Given the description of an element on the screen output the (x, y) to click on. 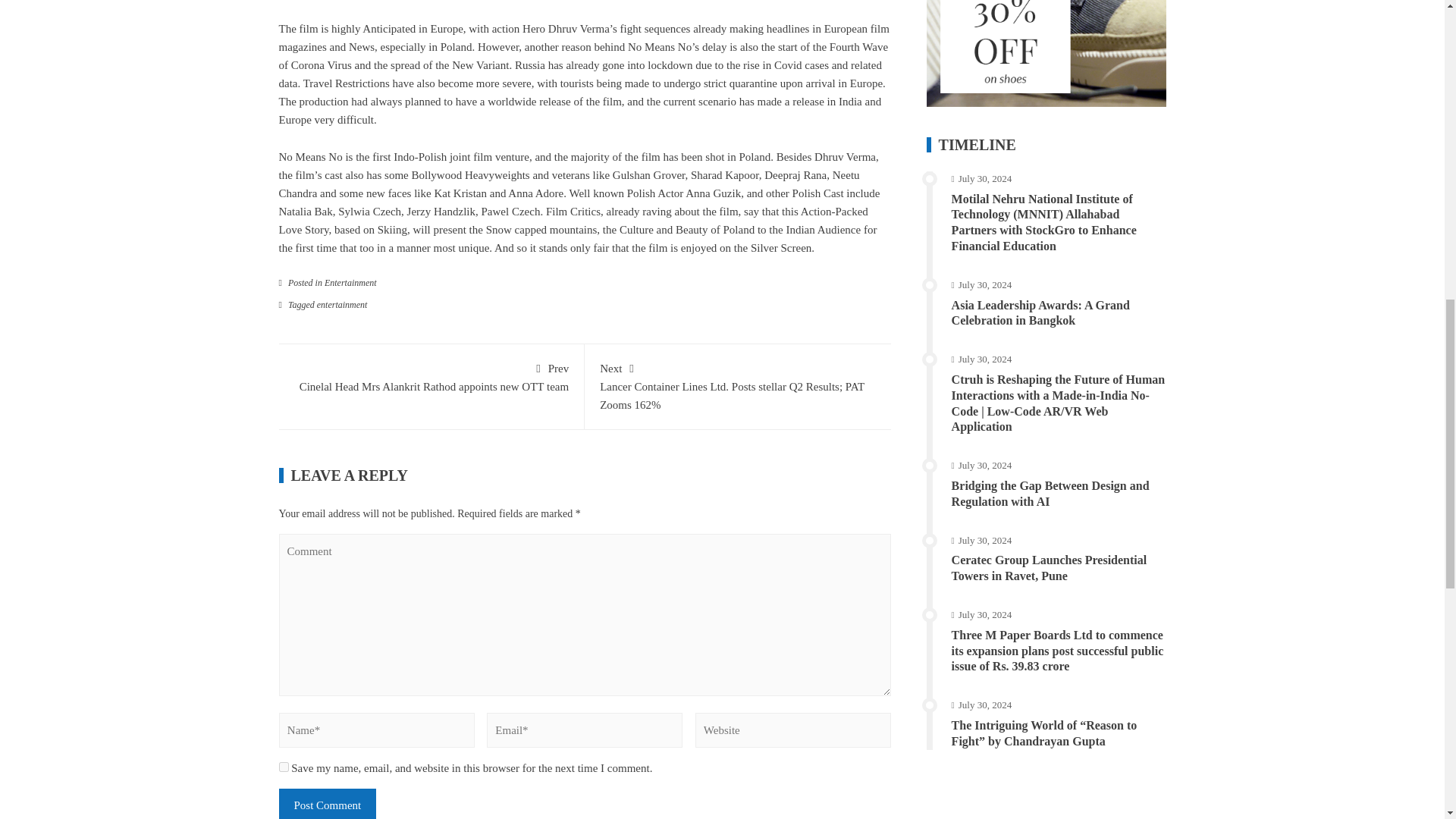
entertainment (342, 304)
Asia Leadership Awards: A Grand Celebration in Bangkok (1040, 312)
Entertainment (350, 282)
Bridging the Gap Between Design and Regulation with AI (1051, 493)
Post Comment (328, 803)
Ceratec Group Launches Presidential Towers in Ravet, Pune (1049, 567)
yes (283, 767)
Post Comment (431, 376)
